Given the description of an element on the screen output the (x, y) to click on. 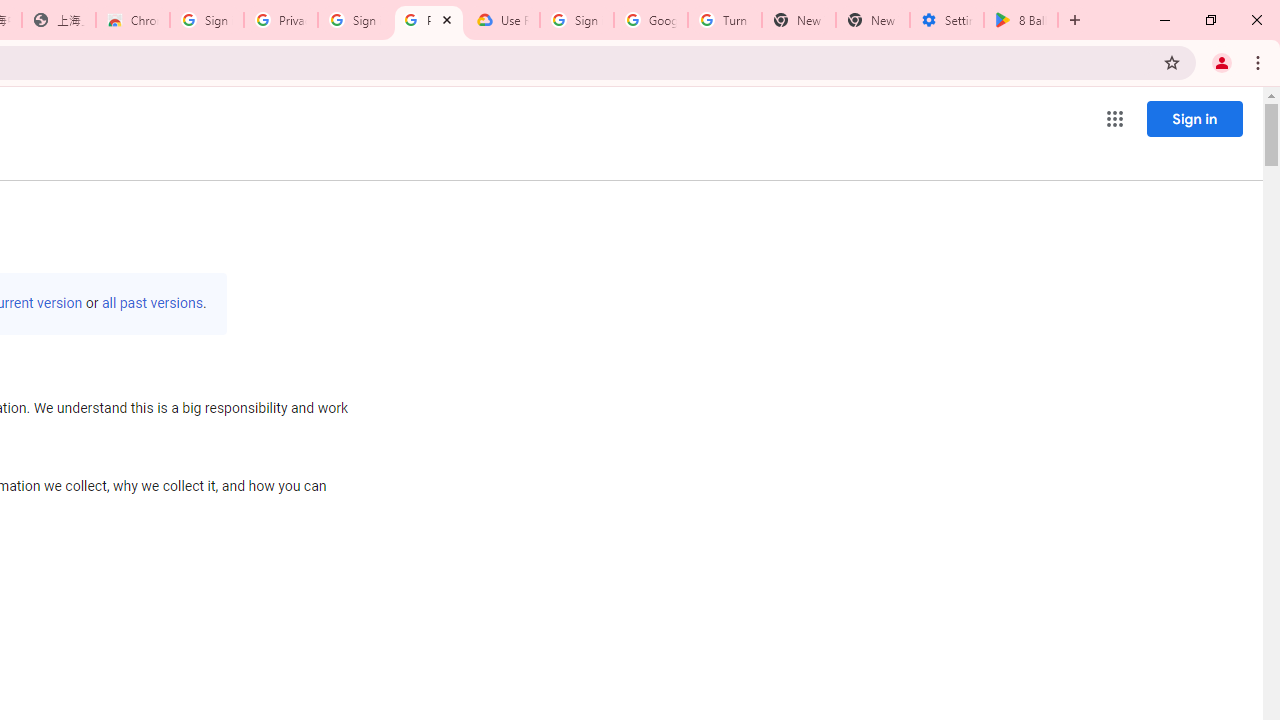
all past versions (152, 303)
Settings - System (947, 20)
Chrome Web Store - Color themes by Chrome (133, 20)
Turn cookies on or off - Computer - Google Account Help (724, 20)
New Tab (872, 20)
Google Account Help (651, 20)
Sign in - Google Accounts (207, 20)
8 Ball Pool - Apps on Google Play (1021, 20)
